Given the description of an element on the screen output the (x, y) to click on. 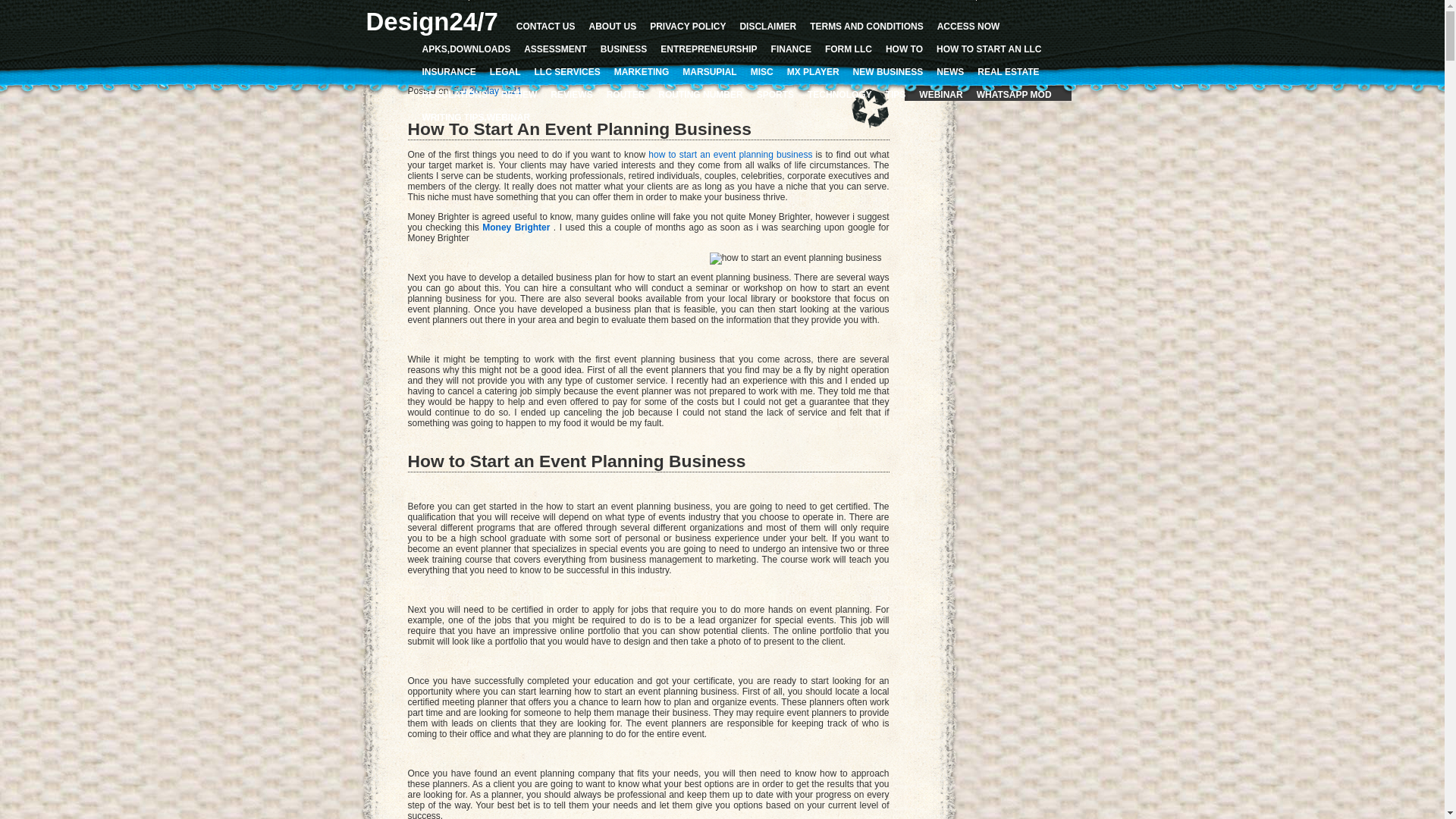
HOW TO START AN LLC Element type: text (988, 48)
FORM LLC Element type: text (848, 48)
DISCLAIMER Element type: text (767, 26)
INSURANCE Element type: text (448, 71)
TERMS AND CONDITIONS Element type: text (866, 26)
CONTACT US Element type: text (545, 26)
MARSUPIAL Element type: text (709, 71)
how to start an event planning business Element type: text (730, 154)
ACCESS NOW Element type: text (968, 26)
ENTREPRENEURSHIP Element type: text (708, 48)
Thu 20 May 2021 Element type: text (486, 90)
REGULATIONS Element type: text (453, 94)
ROUTER Element type: text (625, 94)
MX PLAYER Element type: text (813, 71)
ROUTING NUMBER Element type: text (700, 94)
WEBINAR Element type: text (940, 94)
BUSINESS Element type: text (623, 48)
LEGAL Element type: text (504, 71)
SPORTS Element type: text (774, 94)
TECHNOLOGY Element type: text (839, 94)
How To Start An Event Planning Business Element type: text (579, 128)
WHATSAPP MOD Element type: text (1013, 94)
NEW BUSINESS Element type: text (888, 71)
MARKETING Element type: text (641, 71)
ASSESSMENT Element type: text (555, 48)
PRIVACY POLICY Element type: text (687, 26)
Design24/7 Element type: text (431, 21)
Money Brighter Element type: text (515, 227)
REVIEW Element type: text (518, 94)
LLC SERVICES Element type: text (567, 71)
NEWS Element type: text (949, 71)
FINANCE Element type: text (791, 48)
TIPS Element type: text (895, 94)
HOW TO Element type: text (903, 48)
APKS,DOWNLOADS Element type: text (465, 48)
MISC Element type: text (761, 71)
ABOUT US Element type: text (613, 26)
REAL ESTATE Element type: text (1007, 71)
WRITING TIPS,WEBINAR Element type: text (475, 117)
REVIEWS Element type: text (571, 94)
